Given the description of an element on the screen output the (x, y) to click on. 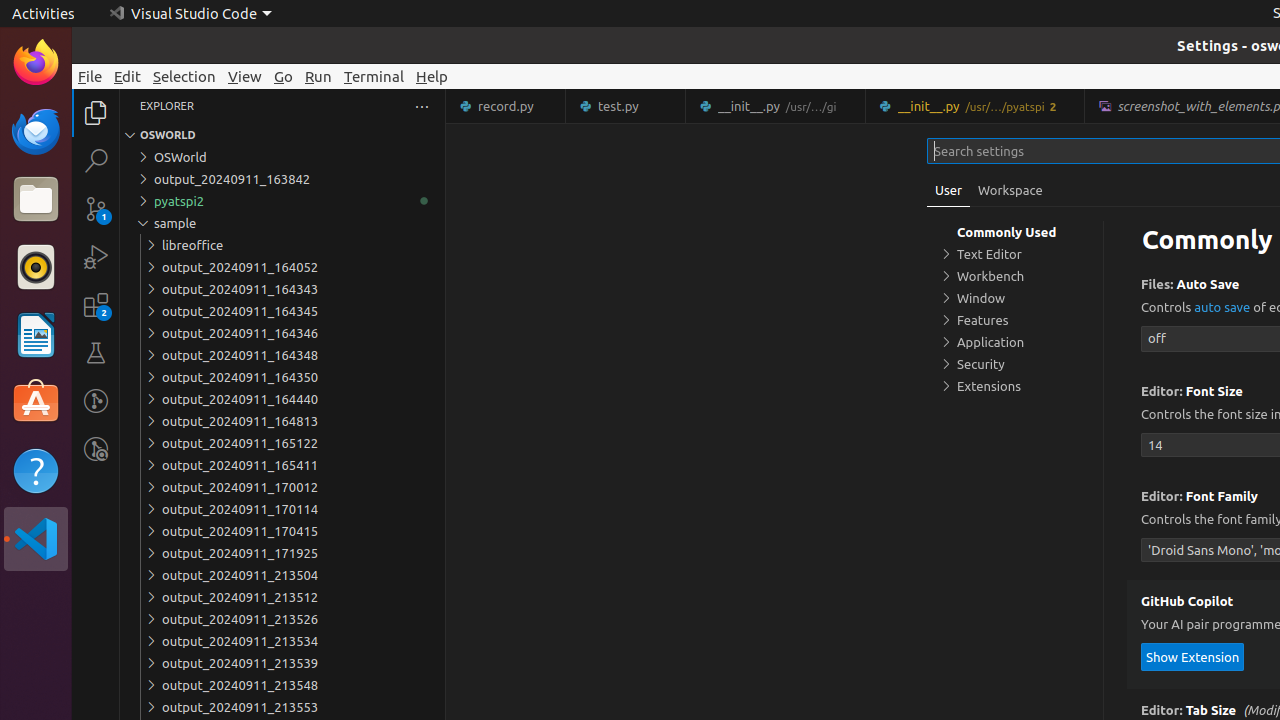
Firefox Web Browser Element type: push-button (36, 63)
Source Control (Ctrl+Shift+G G) - 1 pending changes Source Control (Ctrl+Shift+G G) - 1 pending changes Element type: page-tab (96, 208)
Show Extension Element type: push-button (1193, 656)
test.py Element type: page-tab (626, 106)
